Given the description of an element on the screen output the (x, y) to click on. 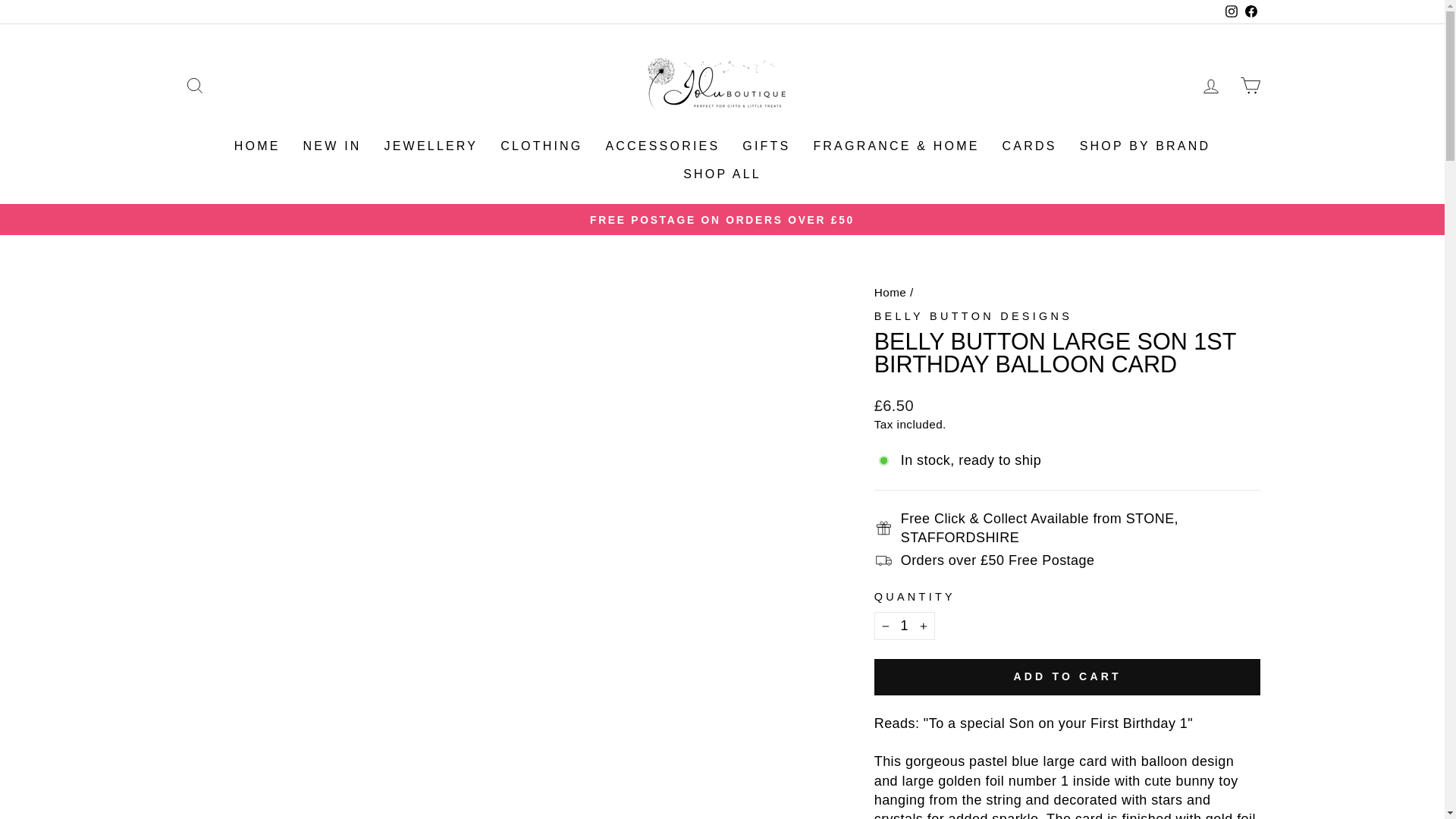
1 (904, 625)
Back to the frontpage (891, 291)
Jolu Accessories Boutique  on Facebook (1250, 11)
Jolu Accessories Boutique  on Instagram (1230, 11)
